Given the description of an element on the screen output the (x, y) to click on. 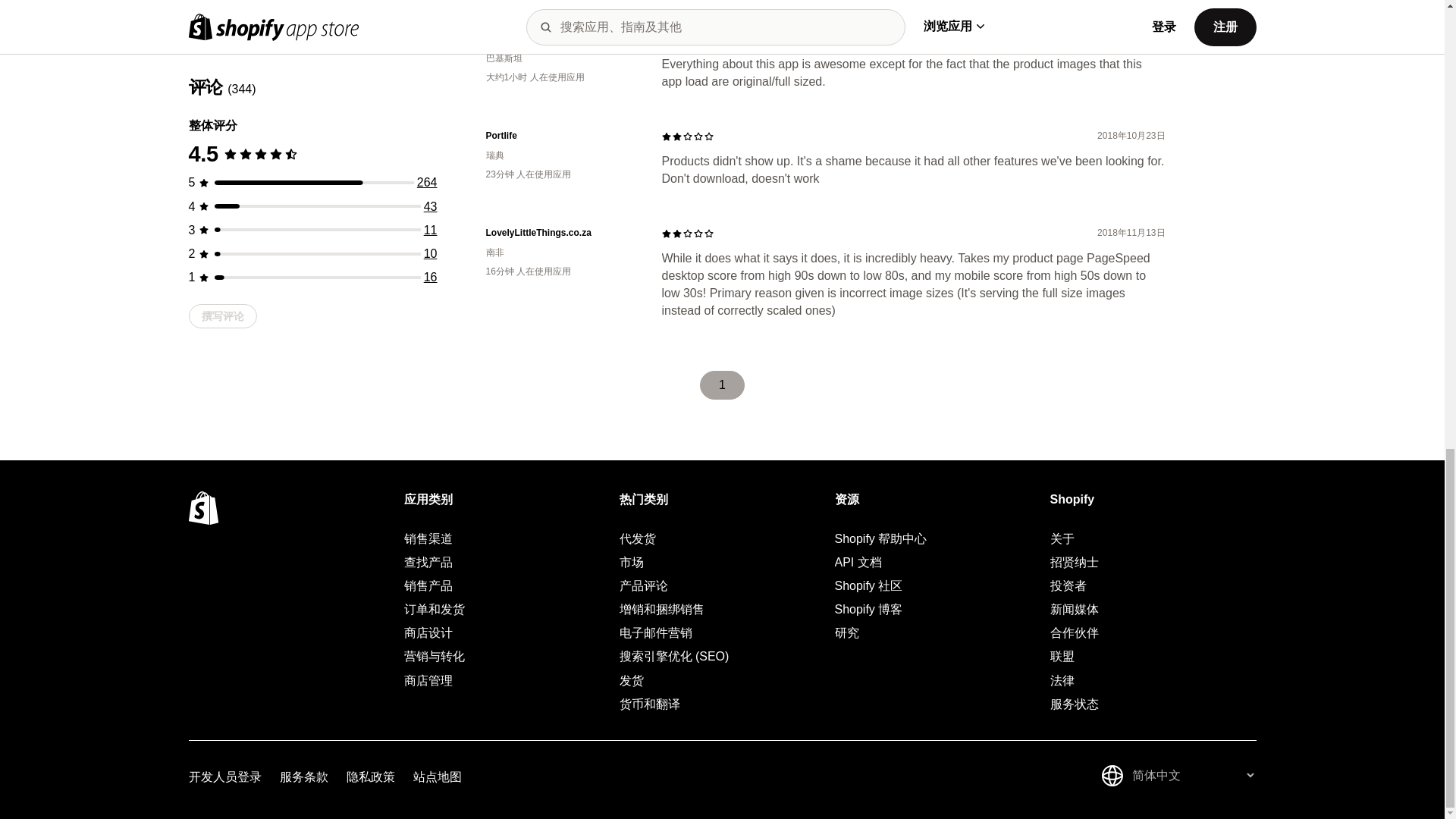
Thinkgirl (560, 39)
Portlife (560, 135)
LovelyLittleThings.co.za (560, 232)
